Given the description of an element on the screen output the (x, y) to click on. 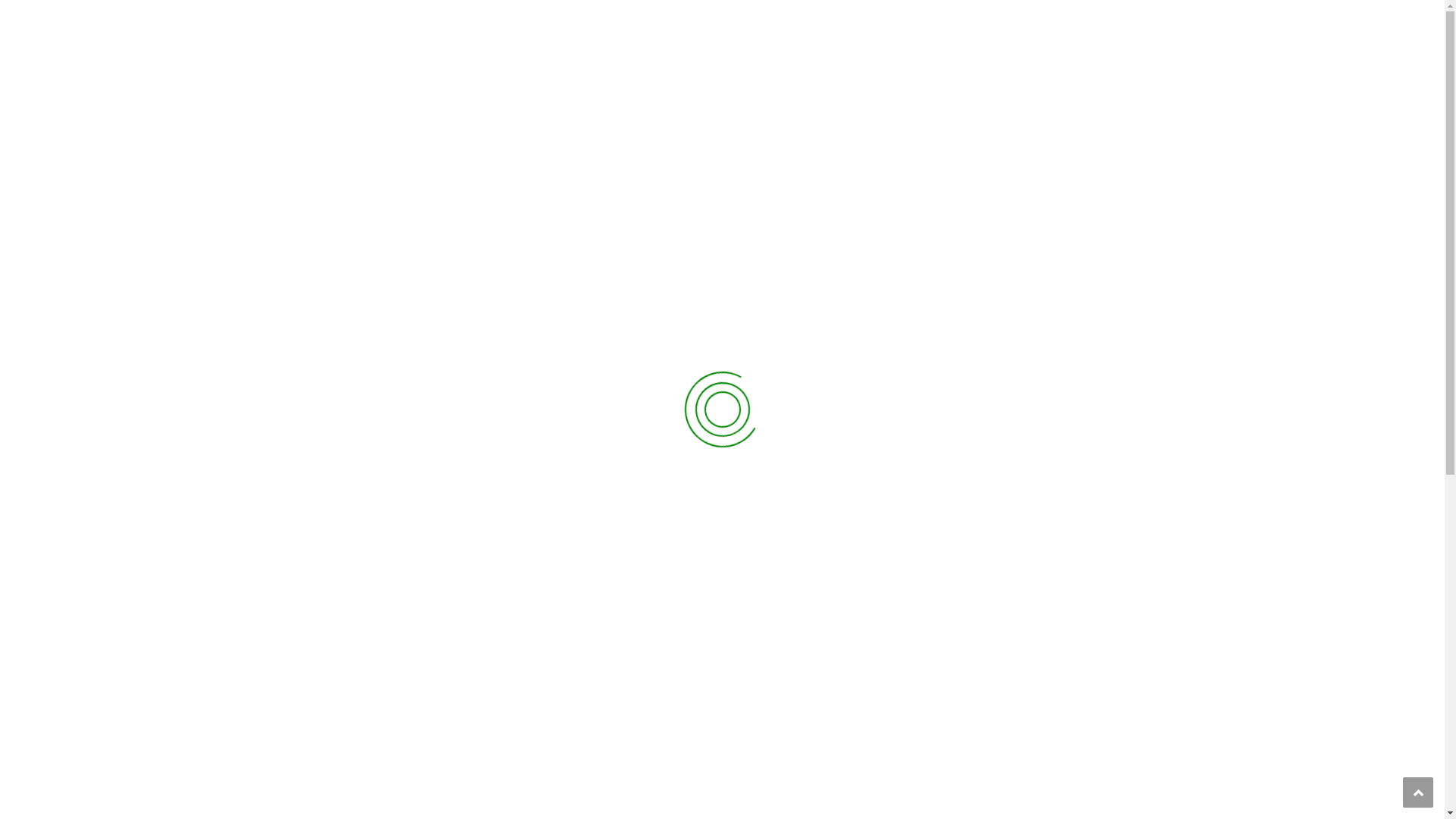
ACCUEIL Element type: text (578, 103)
ORGANES SOUS TUTELLE Element type: text (888, 103)
Home Element type: text (370, 158)
Rechercher Element type: text (1144, 126)
TEXTES Element type: text (1088, 103)
